Given the description of an element on the screen output the (x, y) to click on. 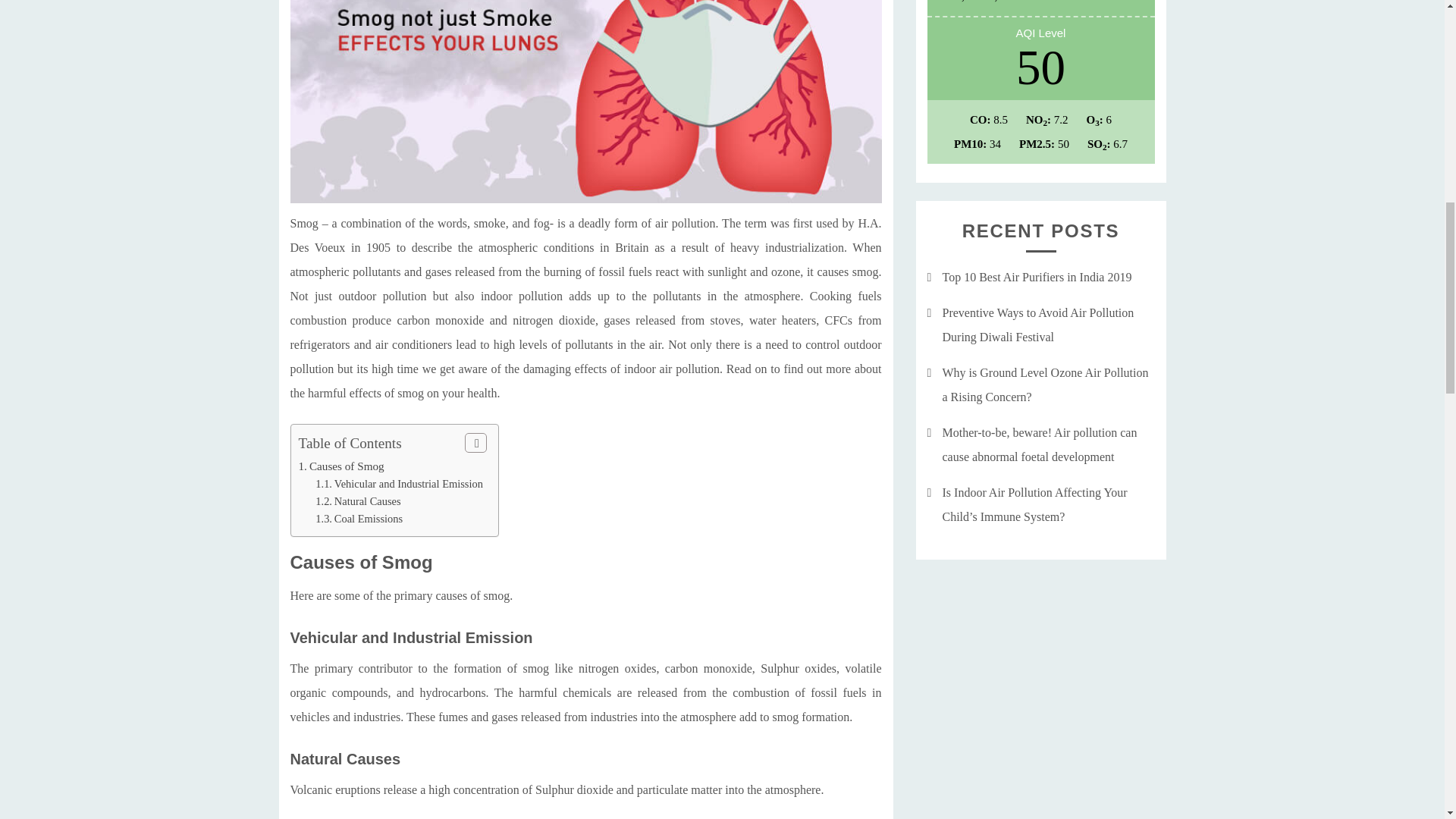
Natural Causes (367, 500)
Coal Emissions (368, 518)
Top 10 Best Air Purifiers in India 2019 (1036, 277)
Why is Ground Level Ozone Air Pollution a Rising Concern? (1045, 384)
Vehicular and Industrial Emission (408, 483)
Coal Emissions (368, 518)
Vehicular and Industrial Emission (408, 483)
Causes of Smog (346, 465)
Natural Causes (367, 500)
